Given the description of an element on the screen output the (x, y) to click on. 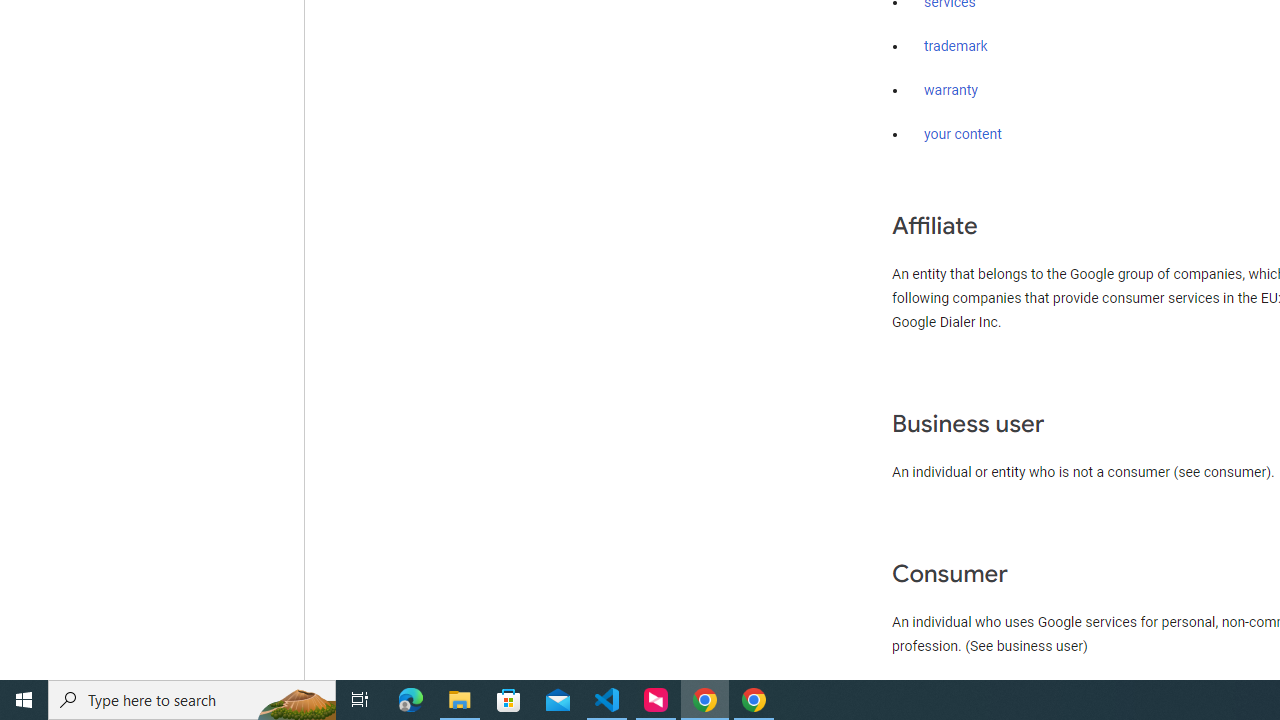
your content (963, 134)
warranty (950, 91)
trademark (956, 47)
